Given the description of an element on the screen output the (x, y) to click on. 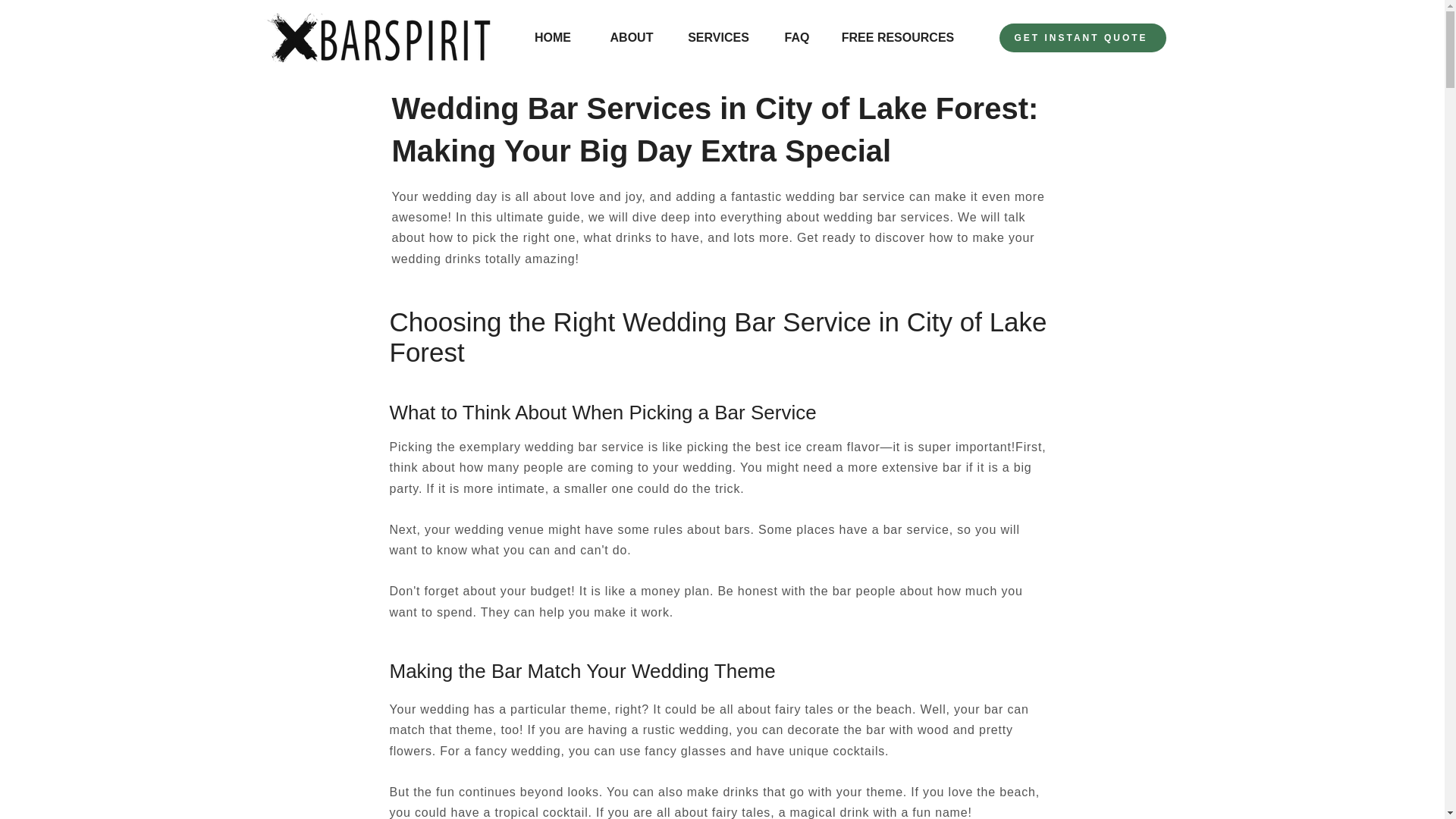
FAQ (796, 37)
GET INSTANT QUOTE (1082, 37)
HOME (552, 37)
ABOUT (631, 37)
SERVICES (717, 37)
